Given the description of an element on the screen output the (x, y) to click on. 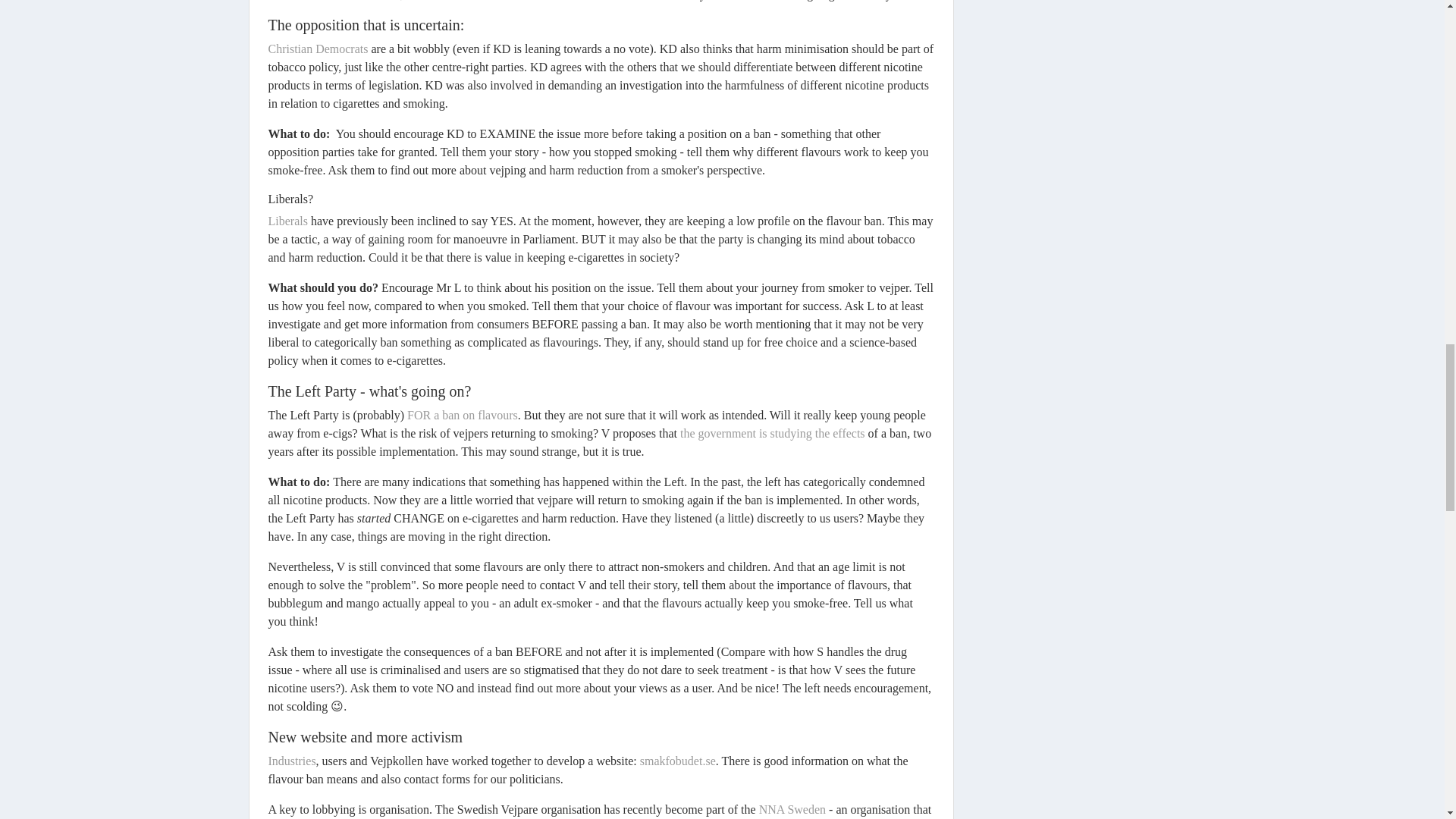
NNA Sweden (790, 809)
FOR a ban on flavours (462, 414)
the government is studying the effects (771, 432)
Liberals (287, 220)
Industries (291, 760)
Christian Democrats (317, 48)
smakfobudet.se (678, 760)
